Given the description of an element on the screen output the (x, y) to click on. 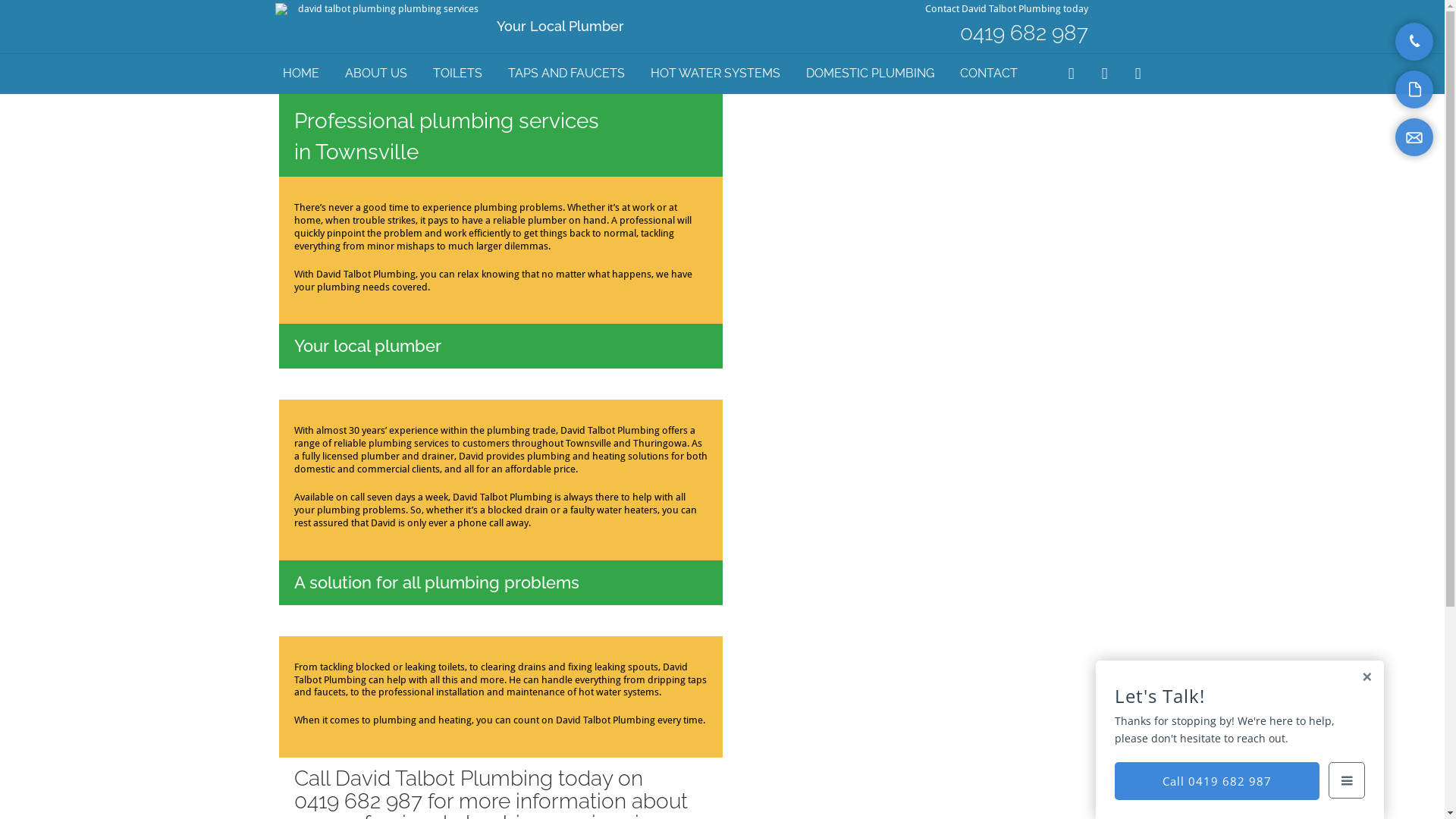
DOMESTIC PLUMBING Element type: text (869, 73)
0419 682 987 Element type: text (358, 800)
HOME Element type: text (300, 73)
TAPS AND FAUCETS Element type: text (566, 73)
TOILETS Element type: text (456, 73)
0419 682 987 Element type: text (1024, 32)
david talbot plumbing plumbing services Element type: hover (381, 9)
ABOUT US Element type: text (375, 73)
HOT WATER SYSTEMS Element type: text (715, 73)
CONTACT Element type: text (988, 73)
Call 0419 682 987 Element type: text (1216, 781)
